Given the description of an element on the screen output the (x, y) to click on. 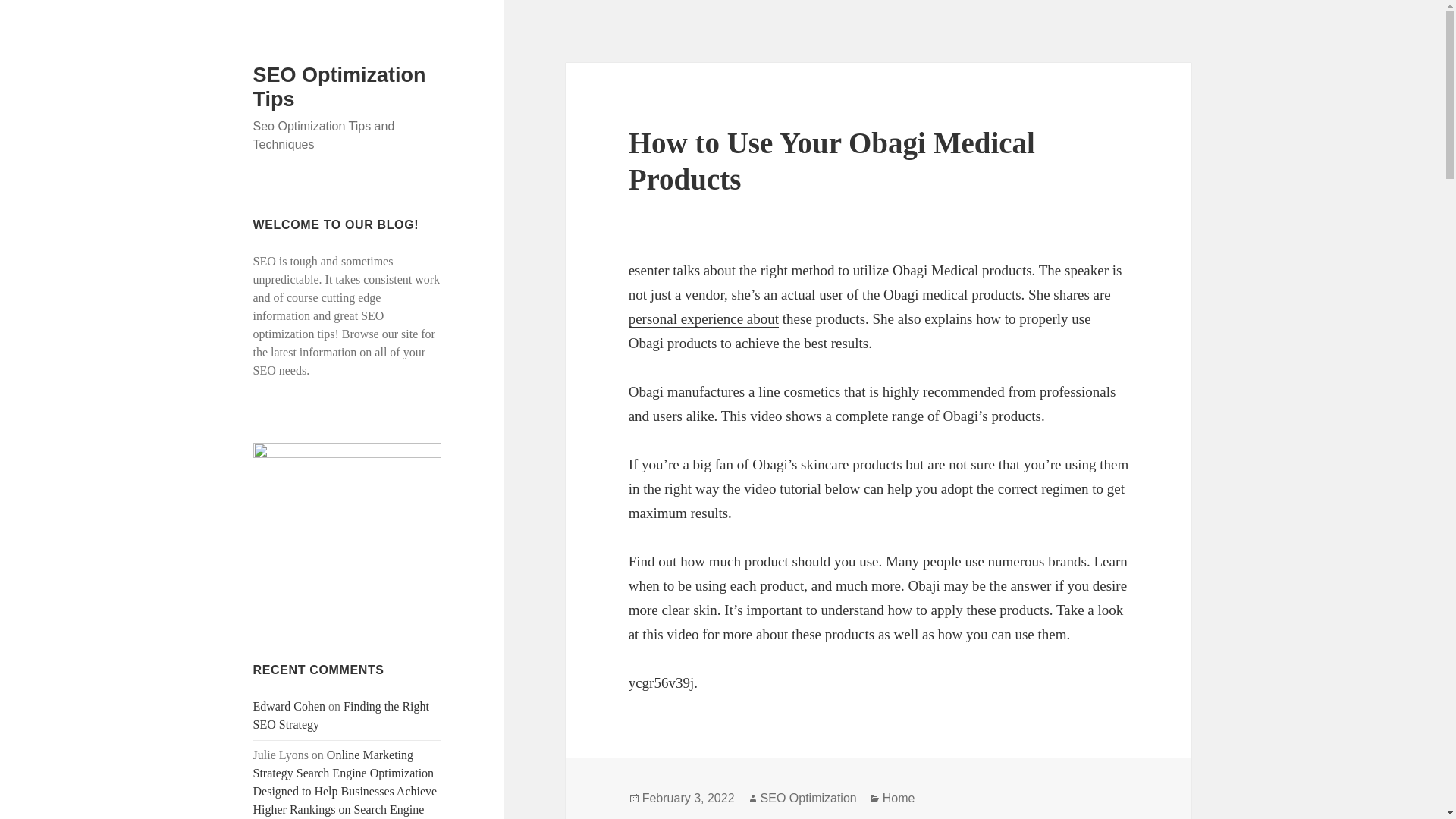
Finding the Right SEO Strategy (341, 715)
Edward Cohen (289, 706)
SEO Optimization Tips (339, 86)
